Given the description of an element on the screen output the (x, y) to click on. 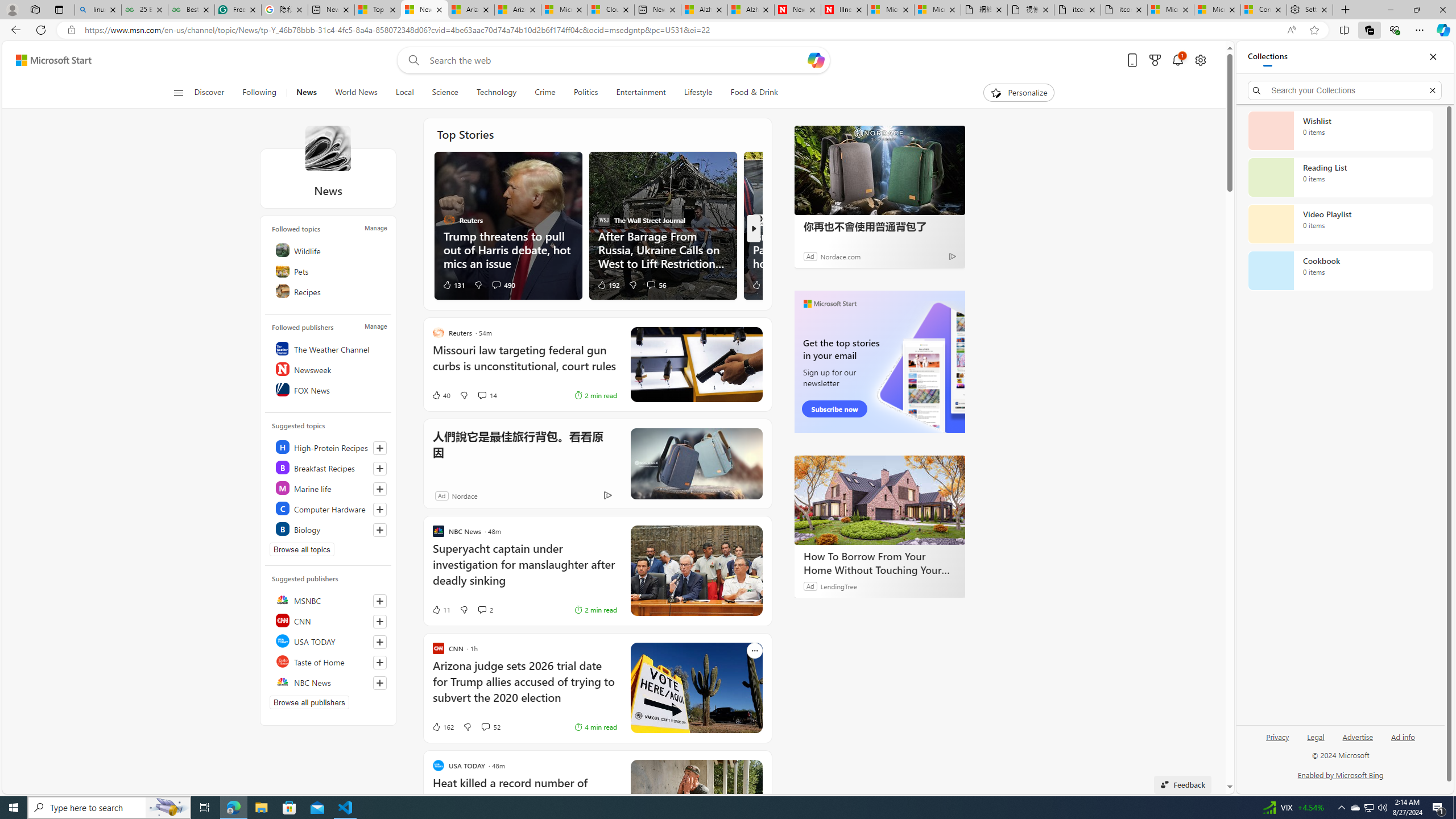
Nordace.com (839, 256)
Browse all topics (301, 549)
View comments 490 Comment (496, 284)
Science (444, 92)
Skip to footer (46, 59)
Lifestyle (697, 92)
Advertise (1358, 741)
